Given the description of an element on the screen output the (x, y) to click on. 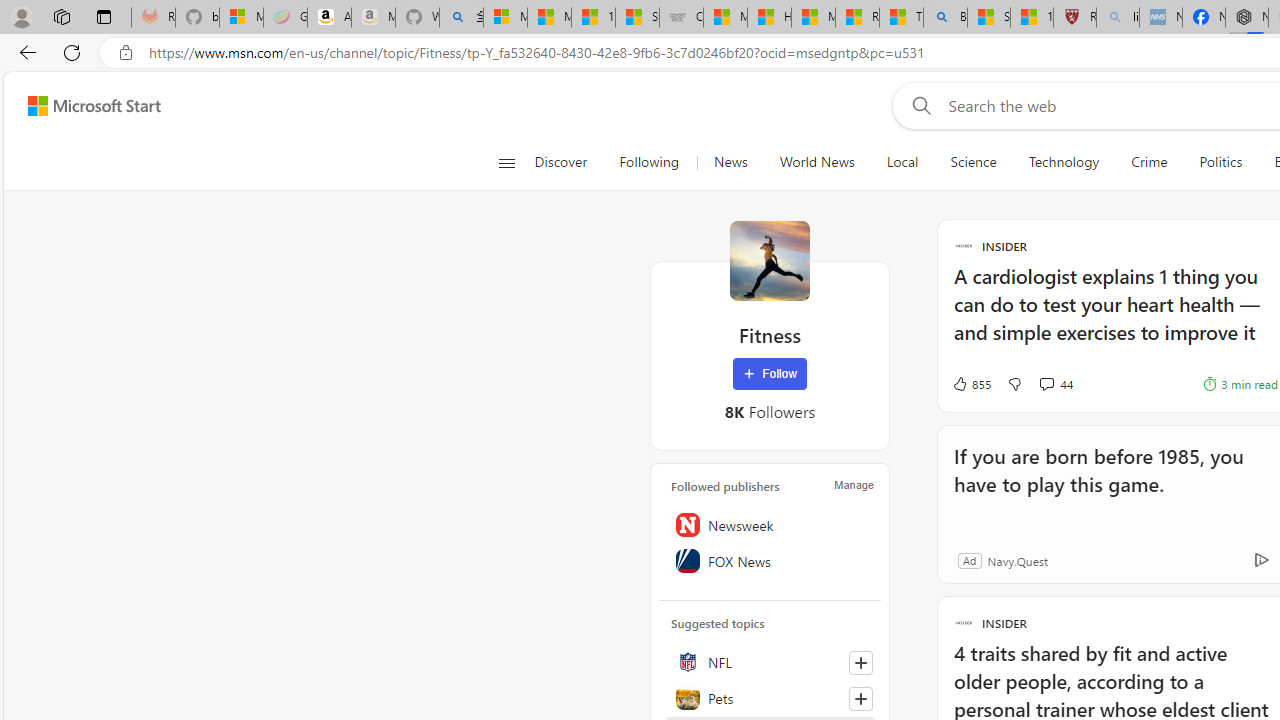
Robert H. Shmerling, MD - Harvard Health (1074, 17)
Local (902, 162)
Follow this topic (860, 698)
Politics (1220, 162)
Newsweek (770, 525)
View comments 44 Comment (1055, 384)
Crime (1149, 162)
Science (973, 162)
